Given the description of an element on the screen output the (x, y) to click on. 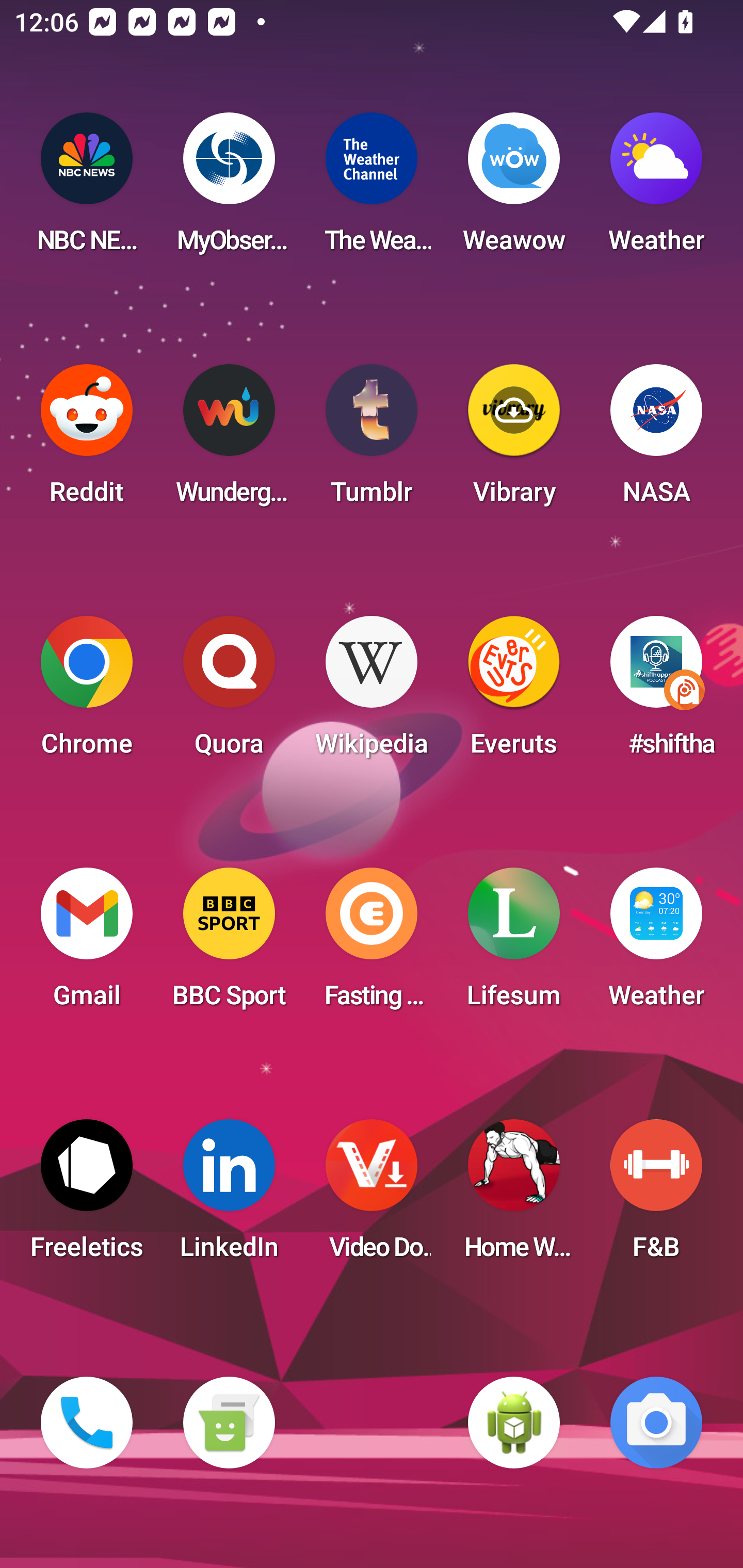
NBC NEWS (86, 188)
MyObservatory (228, 188)
The Weather Channel (371, 188)
Weawow (513, 188)
Weather (656, 188)
Reddit (86, 440)
Wunderground (228, 440)
Tumblr (371, 440)
Vibrary (513, 440)
NASA (656, 440)
Chrome (86, 692)
Quora (228, 692)
Wikipedia (371, 692)
Everuts (513, 692)
#shifthappens in the Digital Workplace Podcast (656, 692)
Gmail (86, 943)
BBC Sport (228, 943)
Fasting Coach (371, 943)
Lifesum (513, 943)
Weather (656, 943)
Freeletics (86, 1195)
LinkedIn (228, 1195)
Video Downloader & Ace Player (371, 1195)
Home Workout (513, 1195)
F&B (656, 1195)
Phone (86, 1422)
Messaging (228, 1422)
WebView Browser Tester (513, 1422)
Camera (656, 1422)
